Given the description of an element on the screen output the (x, y) to click on. 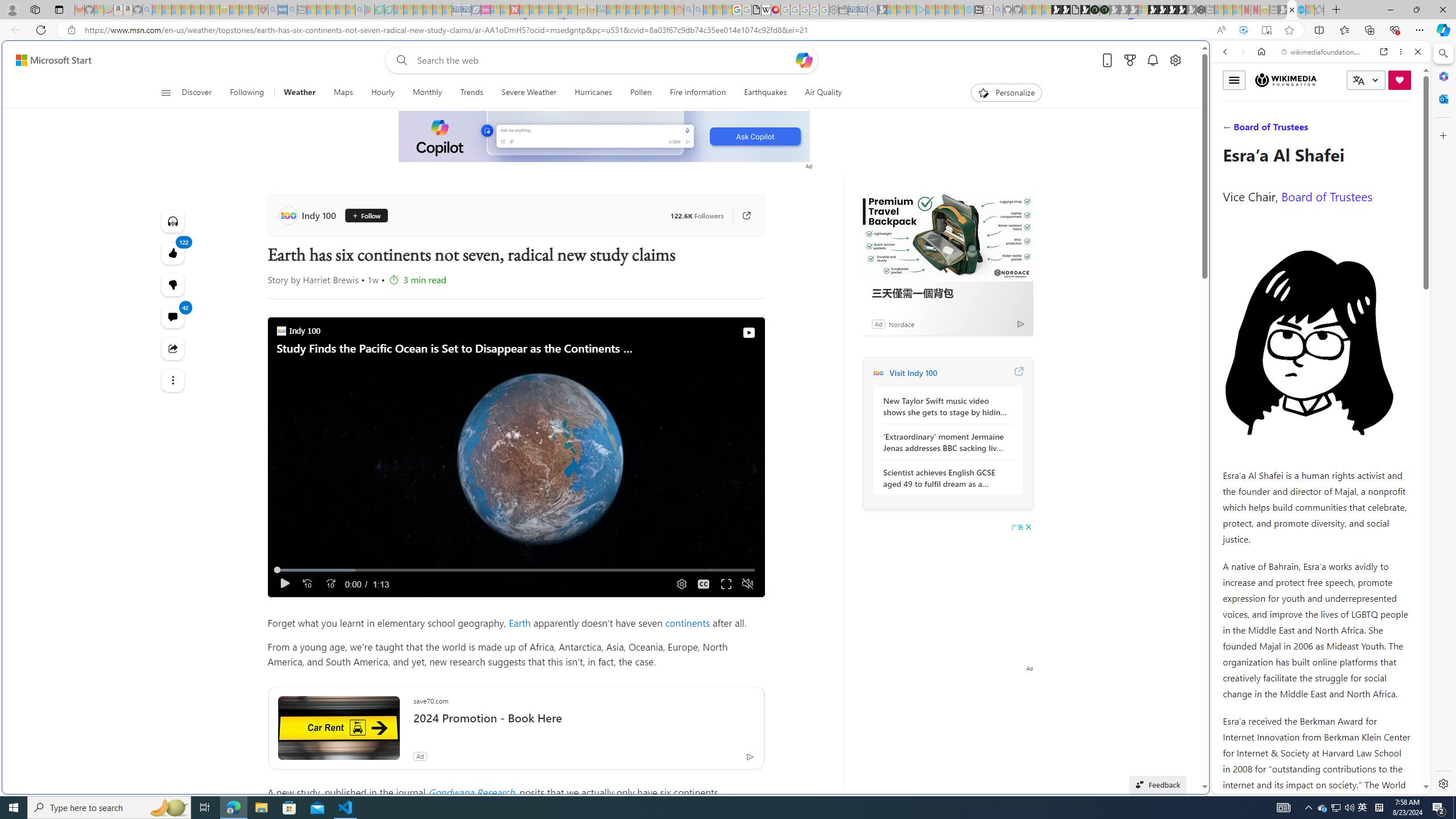
Target page - Wikipedia (766, 9)
Services - Maintenance | Sky Blue Bikes - Sky Blue Bikes (1300, 9)
MediaWiki (774, 9)
Board of Trustees (1326, 195)
save70.com 2024 Promotion - Book Here (583, 714)
